Given the description of an element on the screen output the (x, y) to click on. 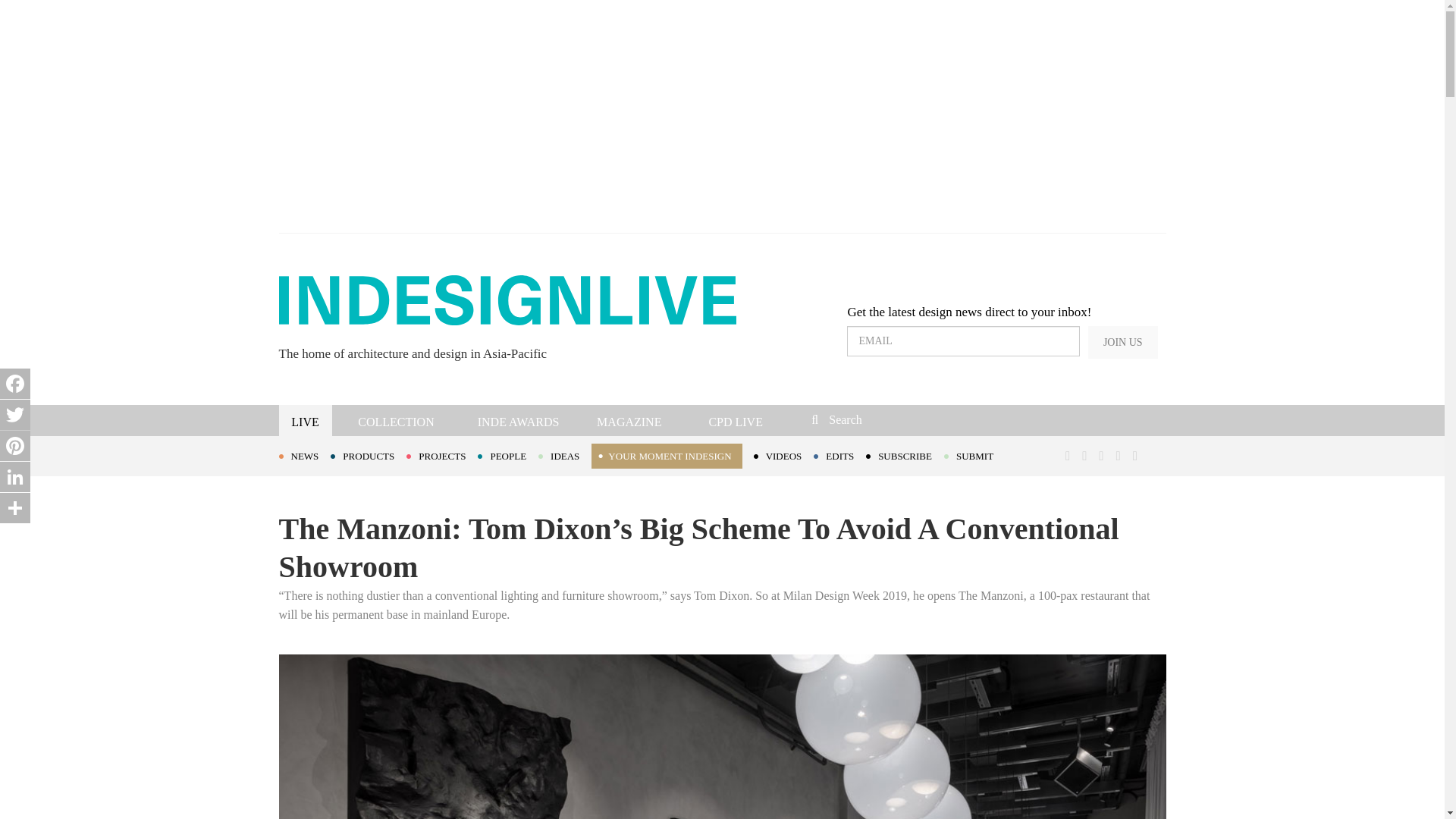
EDITS (839, 455)
YOUR MOMENT INDESIGN (666, 455)
SUBMIT (974, 455)
JOIN US (1122, 341)
PROJECTS (441, 455)
VIDEOS (783, 455)
NEWS (305, 455)
IDEAS (564, 455)
PRODUCTS (368, 455)
SUBSCRIBE (904, 455)
Search (913, 418)
PEOPLE (507, 455)
